Given the description of an element on the screen output the (x, y) to click on. 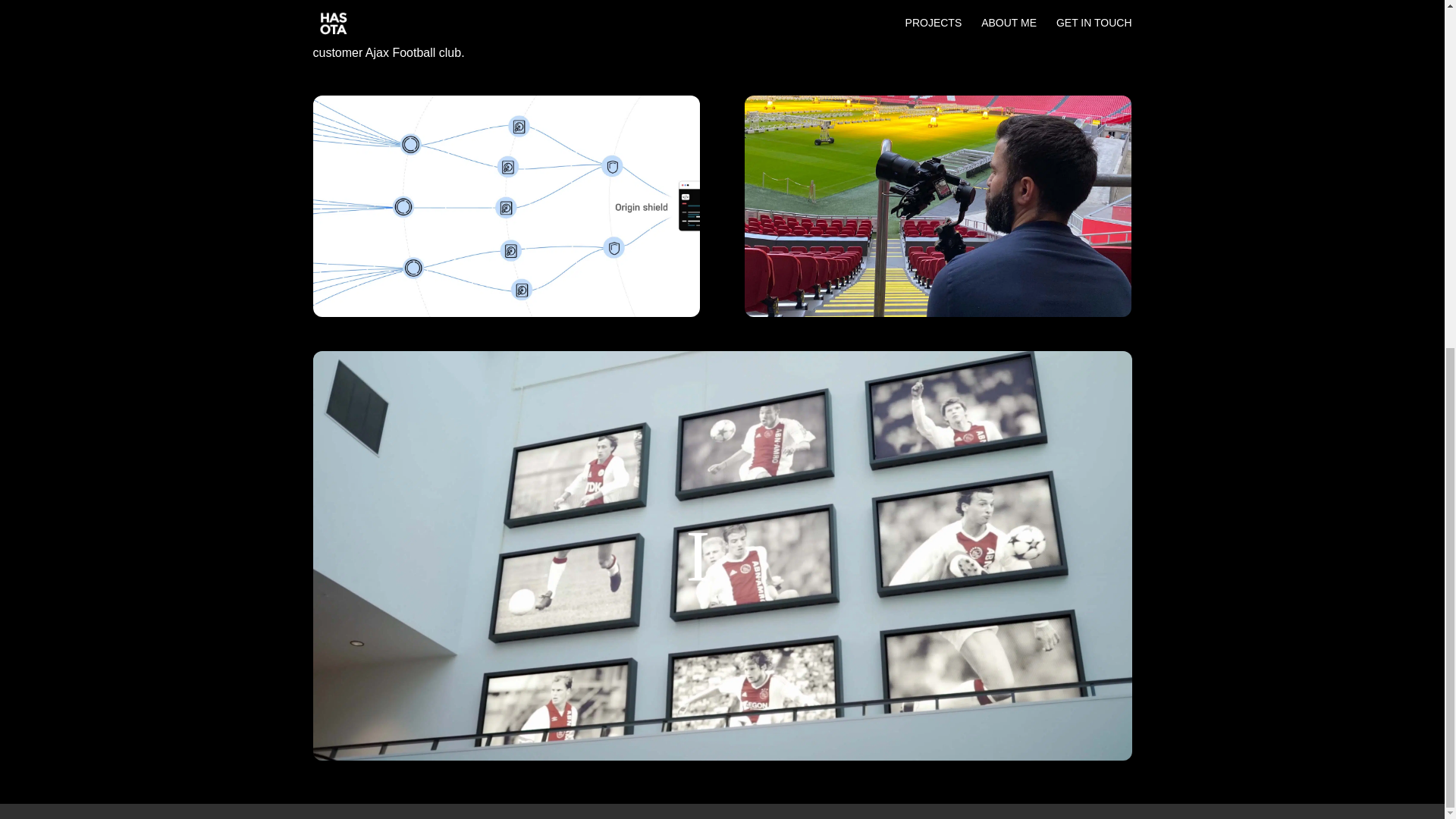
Varnishwhite (505, 205)
